Given the description of an element on the screen output the (x, y) to click on. 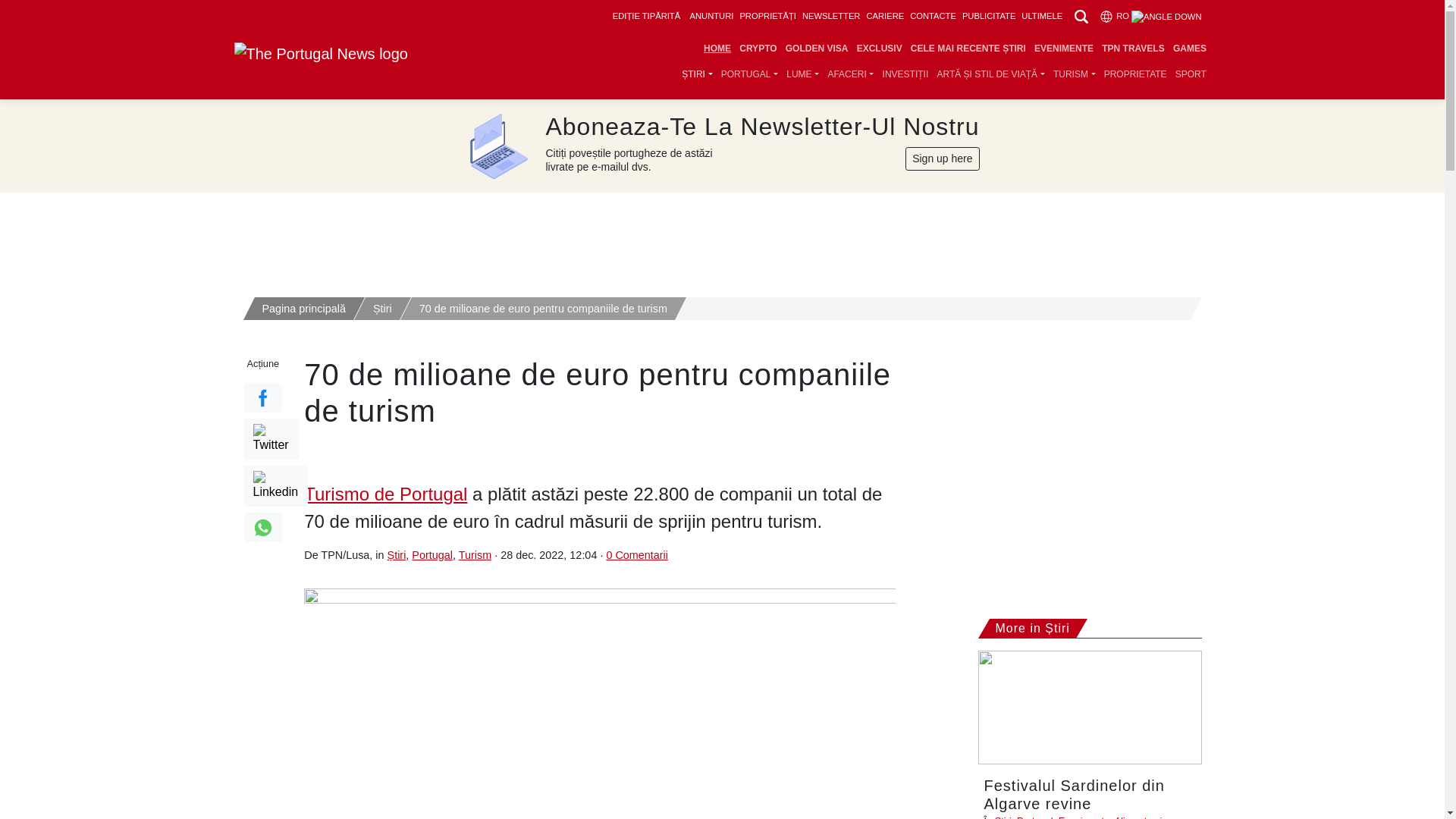
RO (1150, 15)
PORTUGAL (749, 73)
HOME (716, 48)
GOLDEN VISA (815, 48)
CARIERE (885, 15)
ANUNTURI (711, 15)
TPN TRAVELS (1133, 48)
CONTACTE (933, 15)
PUBLICITATE (988, 15)
NEWSLETTER (831, 15)
EVENIMENTE (1063, 48)
CRYPTO (758, 48)
GAMES (1189, 48)
EXCLUSIV (878, 48)
